Given the description of an element on the screen output the (x, y) to click on. 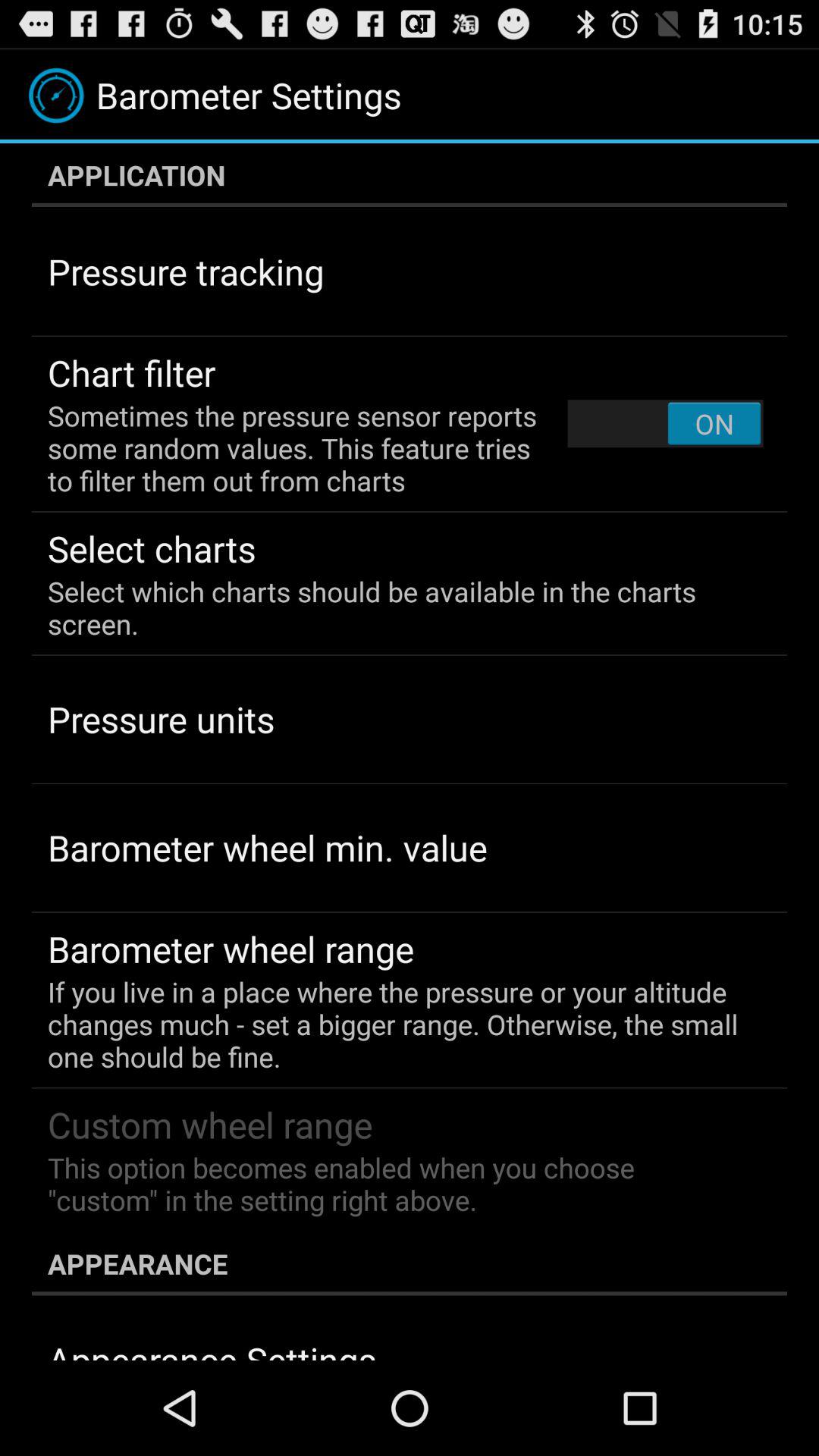
swipe until pressure tracking icon (185, 271)
